Given the description of an element on the screen output the (x, y) to click on. 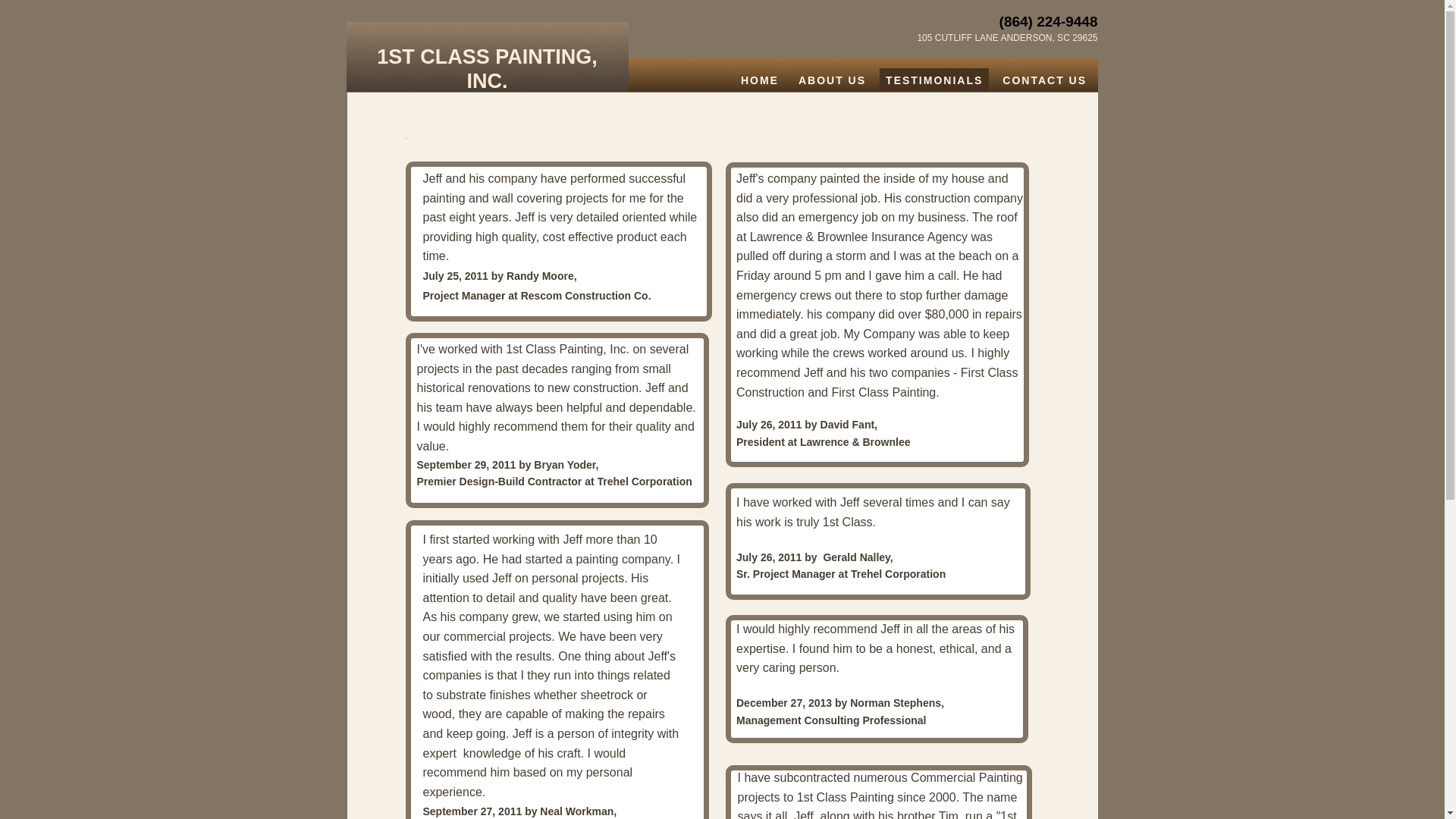
CONTACT US Element type: text (1044, 79)
ABOUT US Element type: text (832, 79)
TESTIMONIALS Element type: text (933, 79)
HOME Element type: text (759, 79)
